Given the description of an element on the screen output the (x, y) to click on. 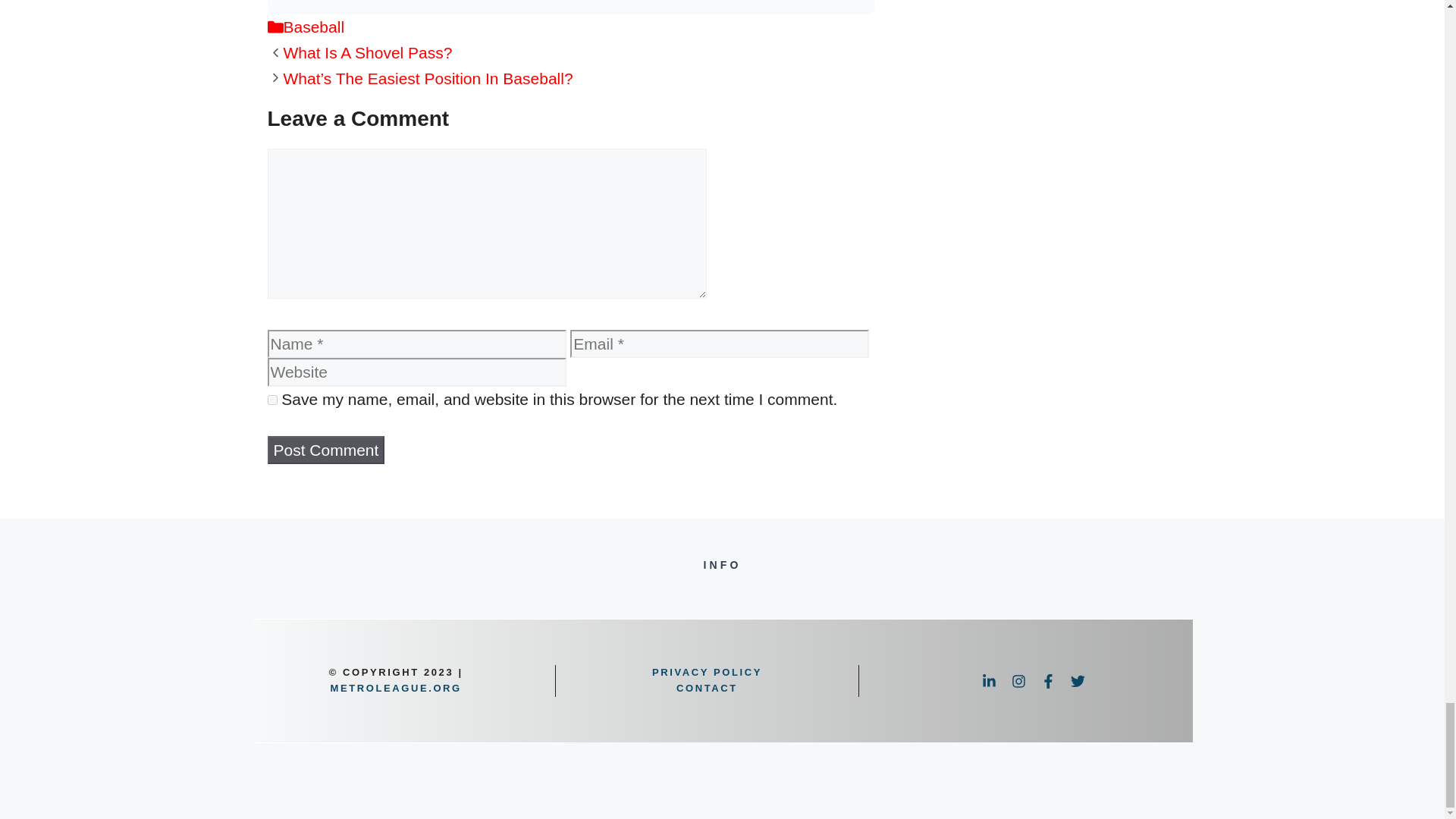
Baseball (314, 27)
What Is A Shovel Pass? (367, 52)
Post Comment (325, 450)
yes (271, 399)
Post Comment (325, 450)
Categories (274, 27)
